Given the description of an element on the screen output the (x, y) to click on. 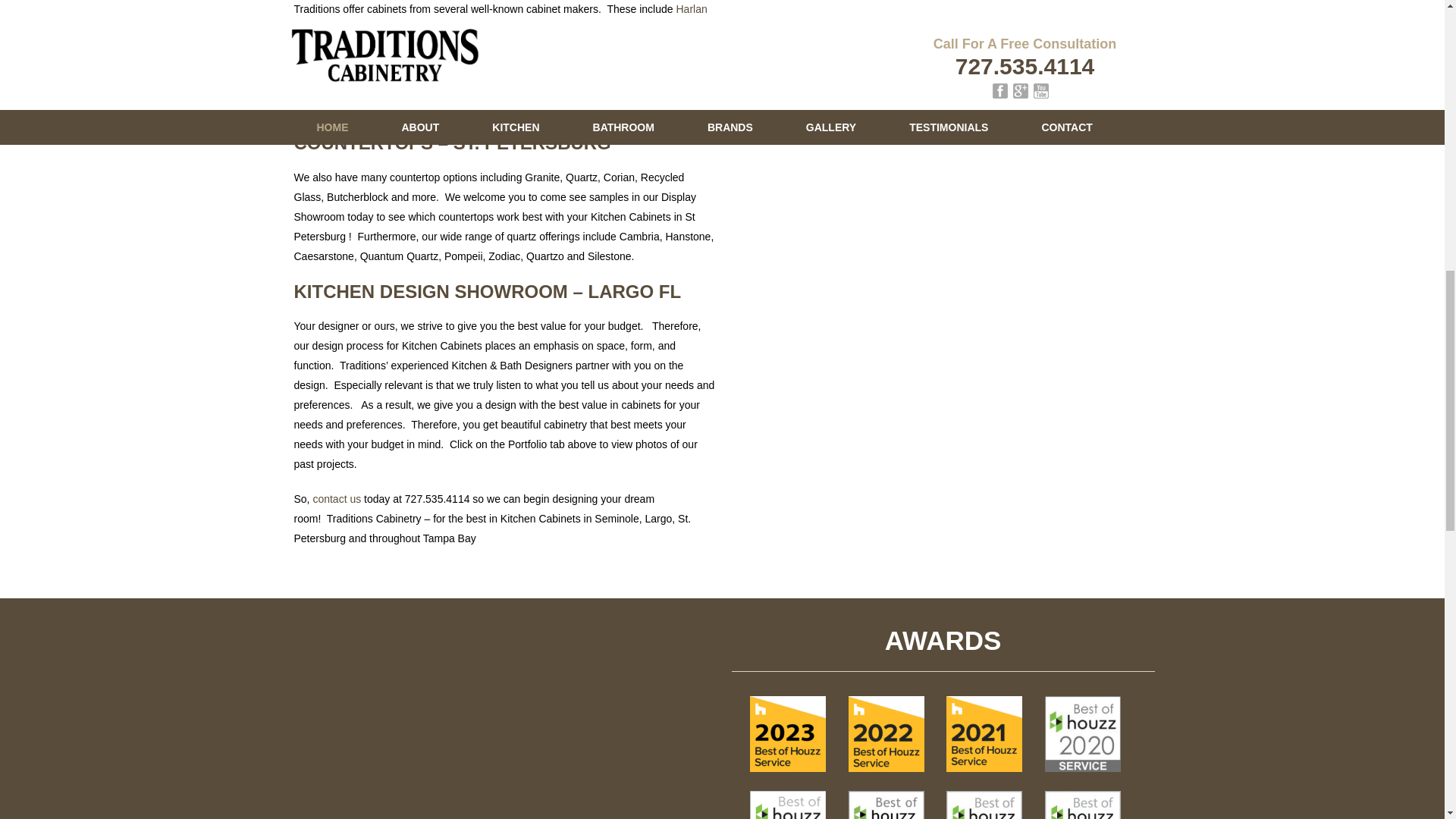
Wellborn (532, 48)
Harlan Cabinets (500, 19)
contact us (337, 499)
